Given the description of an element on the screen output the (x, y) to click on. 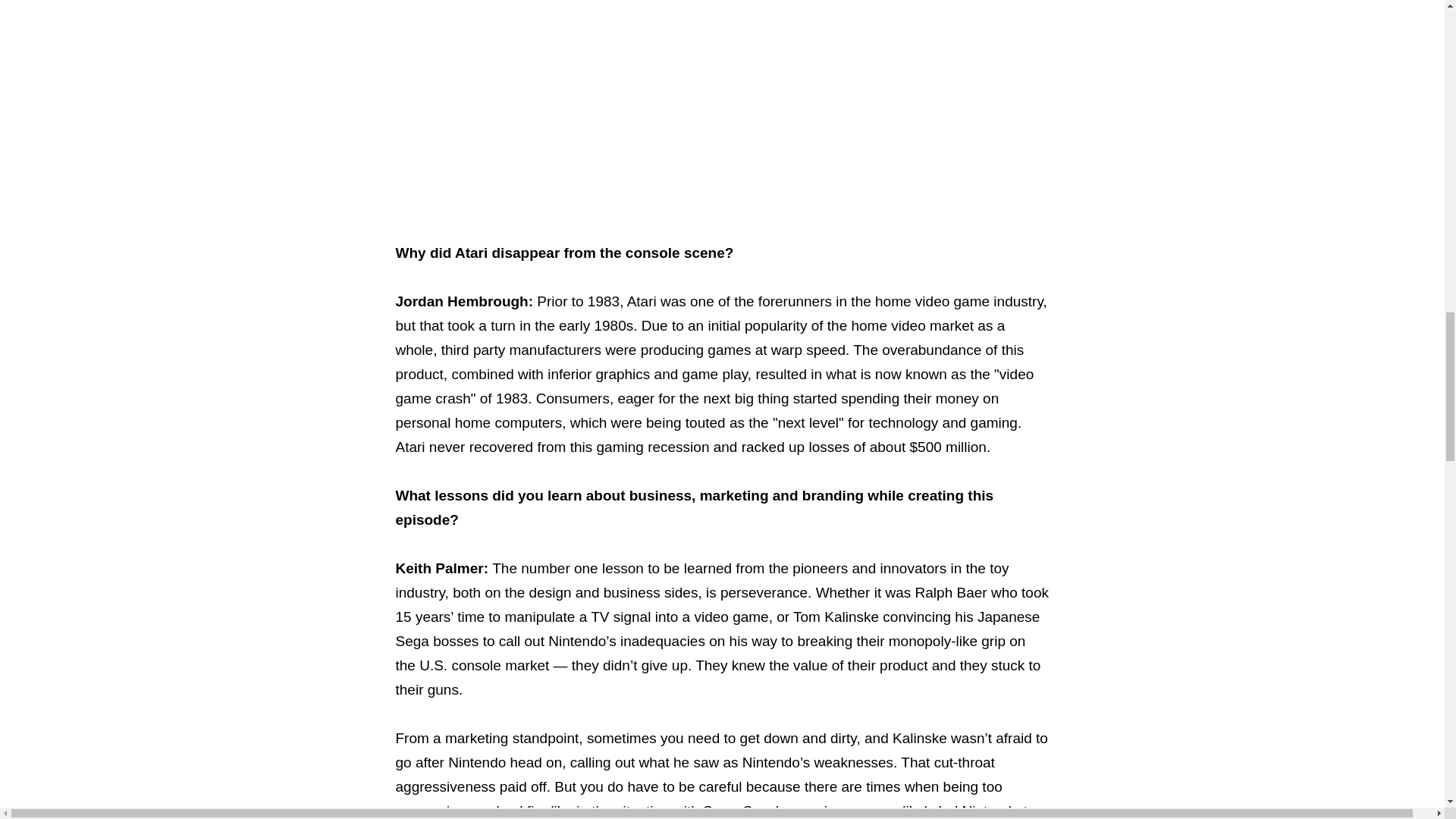
YouTube video player (722, 95)
